Given the description of an element on the screen output the (x, y) to click on. 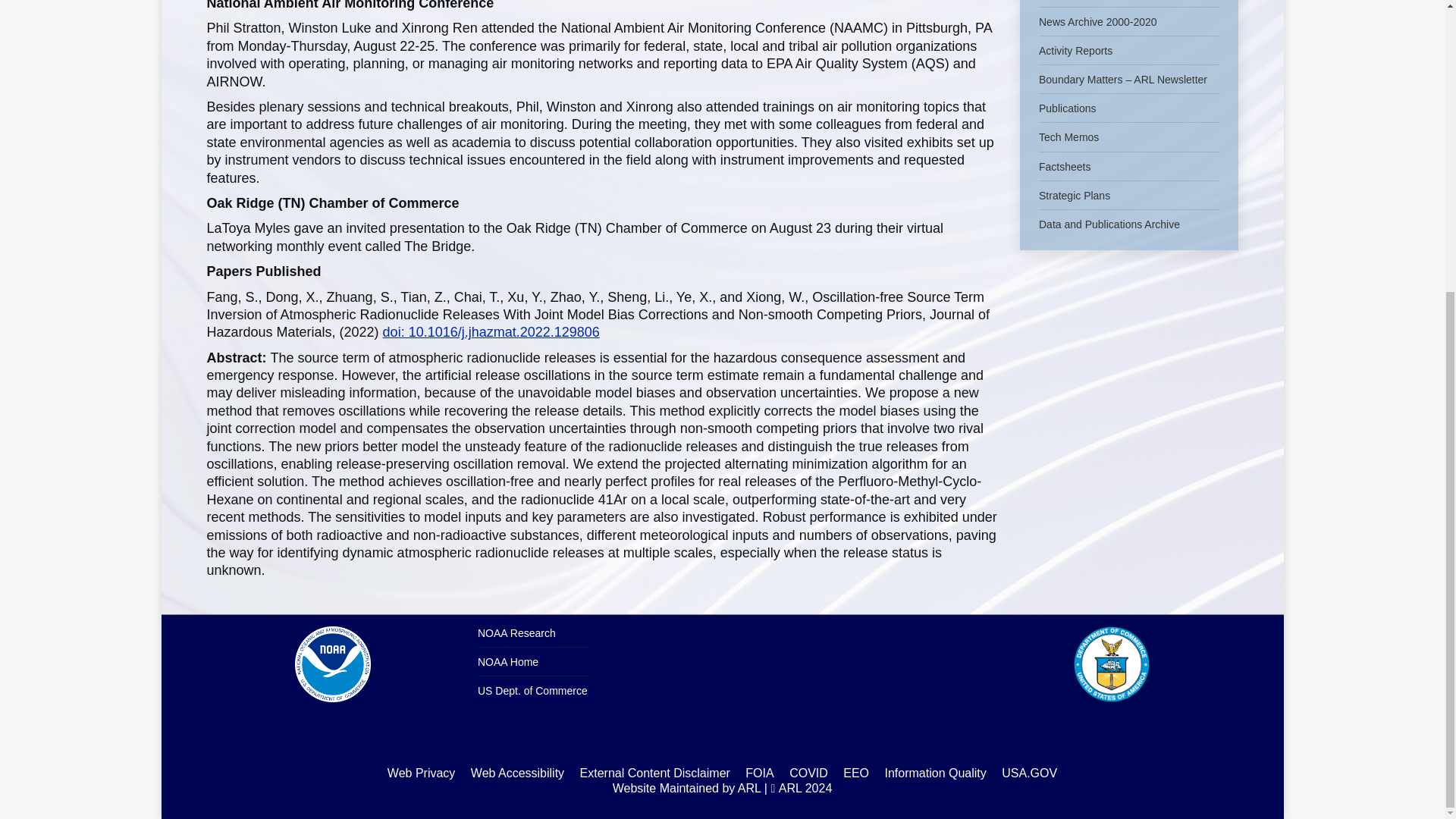
Dept of Commerce Seal (1112, 663)
